Given the description of an element on the screen output the (x, y) to click on. 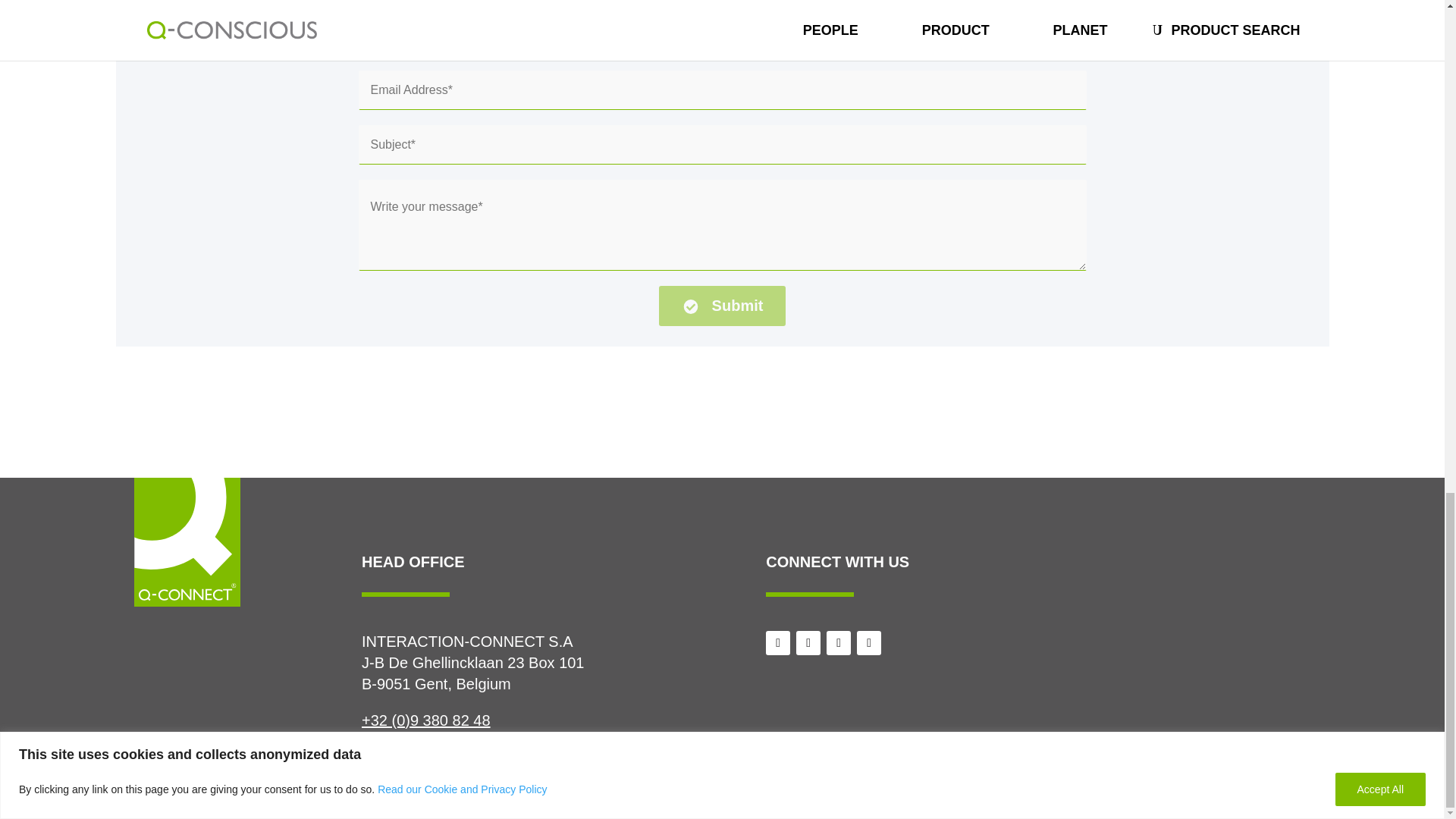
Follow on Facebook (808, 642)
Submit (722, 305)
Follow on LinkedIn (868, 642)
Follow on Youtube (838, 642)
Follow on X (777, 642)
www.q-connect.com (429, 762)
